Given the description of an element on the screen output the (x, y) to click on. 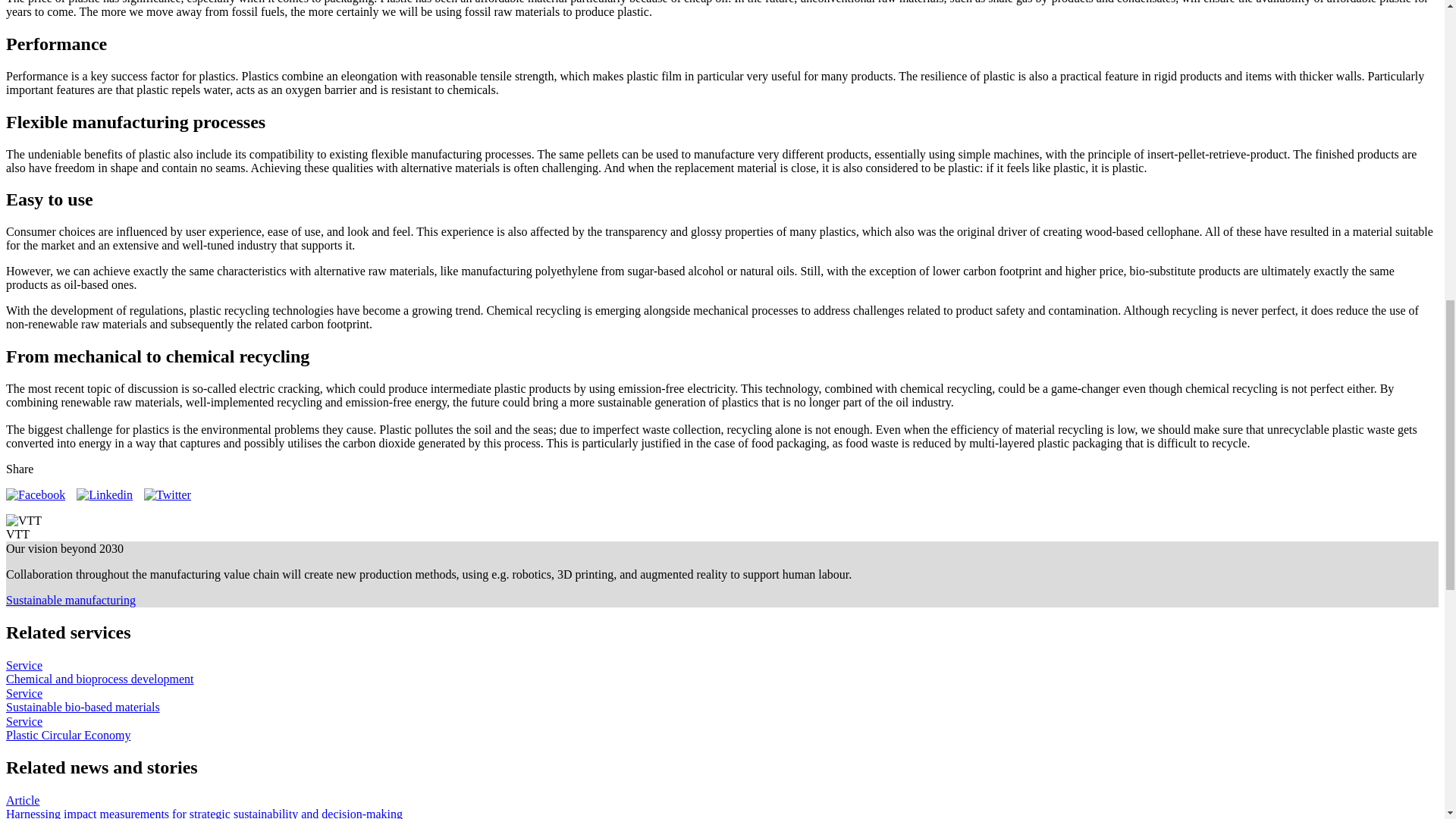
Twitter (167, 494)
Facebook (35, 494)
Linkedin (104, 494)
